Given the description of an element on the screen output the (x, y) to click on. 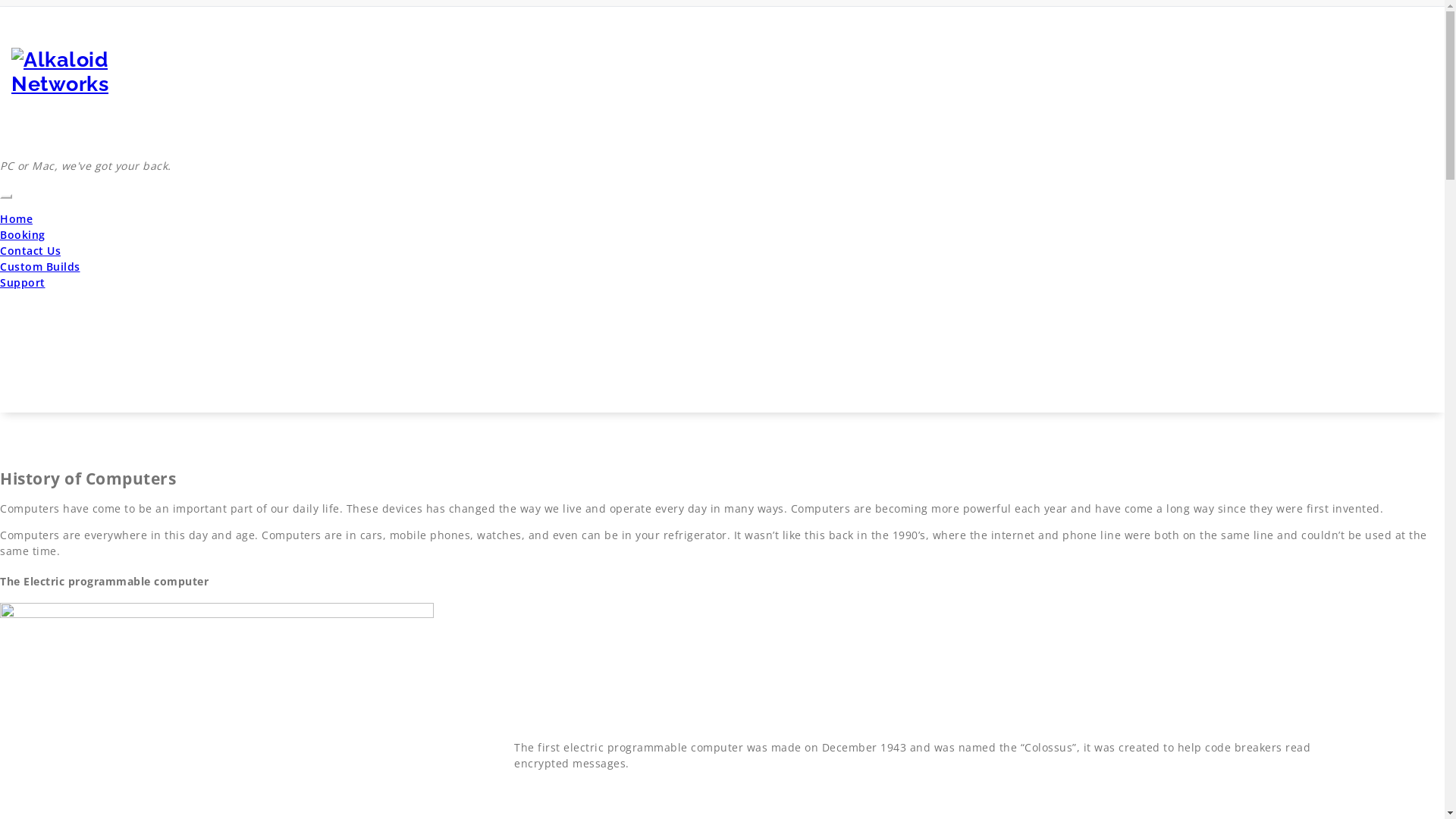
250-809-4357 Element type: text (1397, 14)
Home Element type: text (16, 218)
Support Element type: text (22, 282)
Booking Element type: text (22, 234)
Custom Builds Element type: text (40, 266)
Contact Us Element type: text (30, 250)
help@alkaloid.ca Element type: text (1296, 14)
Toggle navigation Element type: text (6, 196)
